Given the description of an element on the screen output the (x, y) to click on. 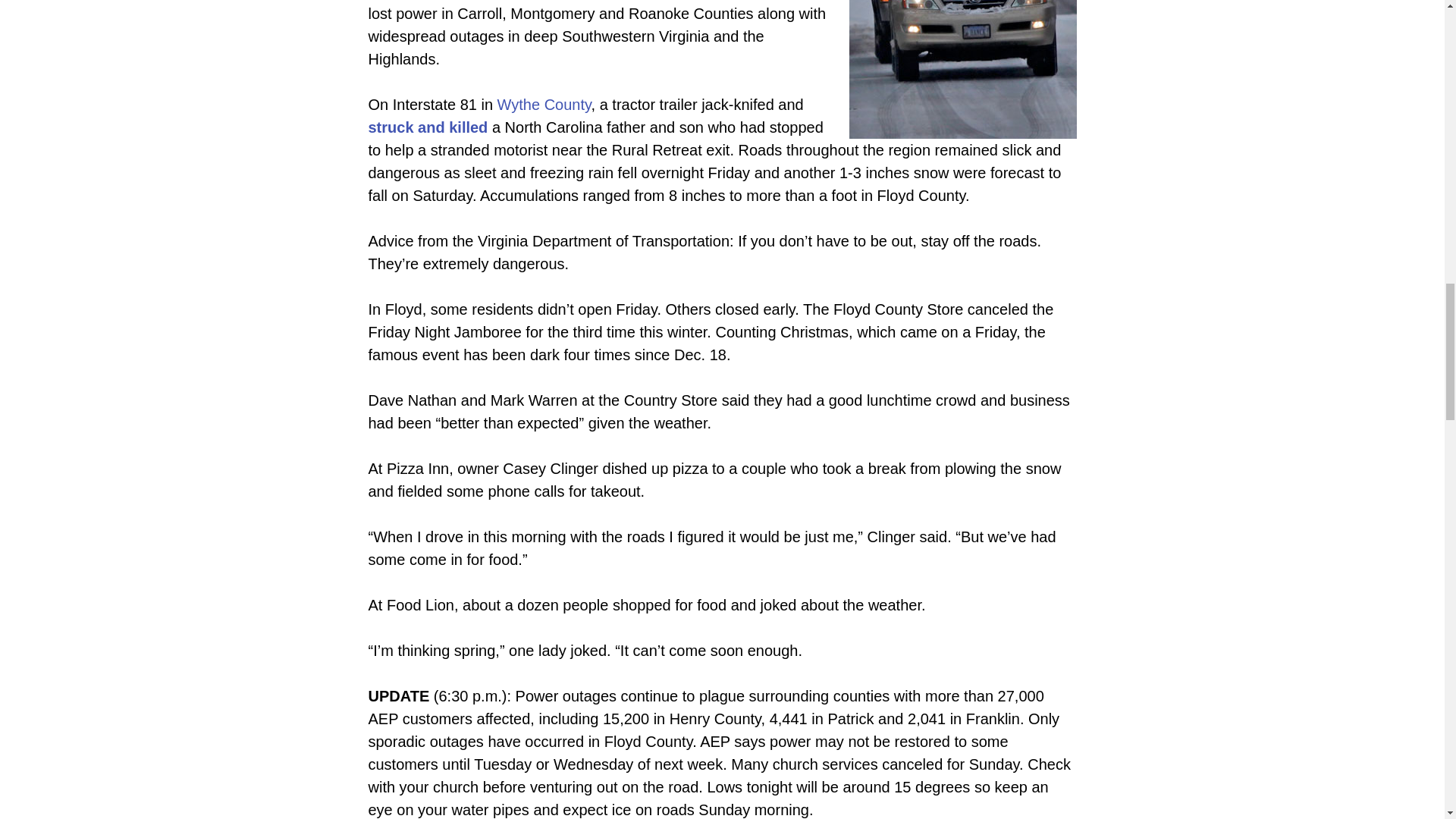
020610snow3 (962, 69)
struck and killed (427, 126)
Wythe County (544, 104)
Wythe County, Virginia (544, 104)
